Given the description of an element on the screen output the (x, y) to click on. 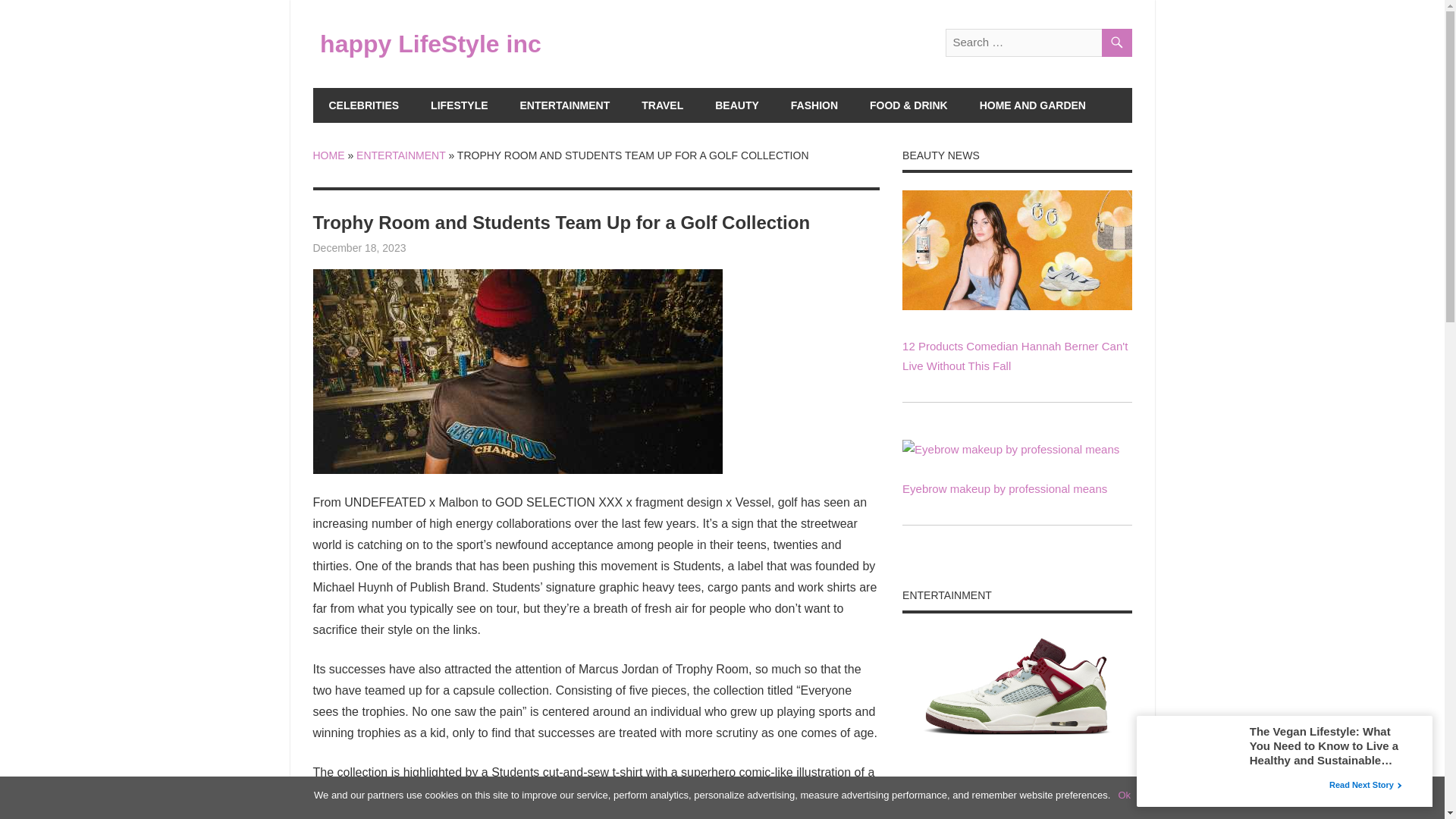
HOME (328, 154)
LIFESTYLE (458, 104)
HOME AND GARDEN (1032, 104)
CELEBRITIES (363, 104)
View all posts by mediabest (430, 247)
FASHION (813, 104)
Search for: (1037, 42)
5:24 pm (359, 247)
BEAUTY (736, 104)
Eyebrow makeup by professional means (1004, 488)
happy LifeStyle inc (430, 43)
mediabest (430, 247)
TRAVEL (662, 104)
